Given the description of an element on the screen output the (x, y) to click on. 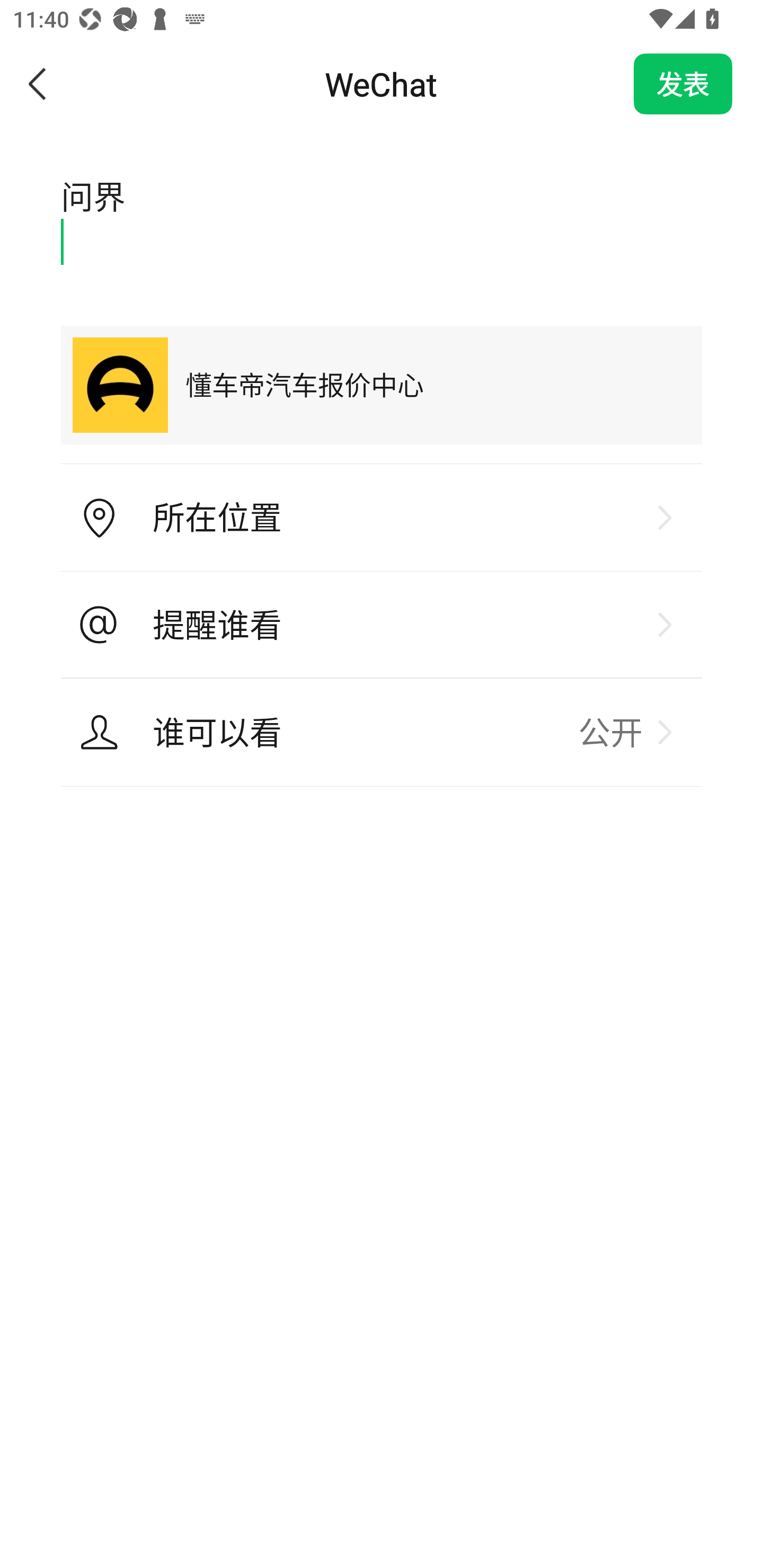
返回 (38, 83)
发表 (683, 83)
问界
​ (381, 217)
懂车帝汽车报价中心 (381, 384)
所在位置 (381, 518)
提醒谁看  提醒谁看 (381, 625)
谁可以看 公开 (381, 731)
